Given the description of an element on the screen output the (x, y) to click on. 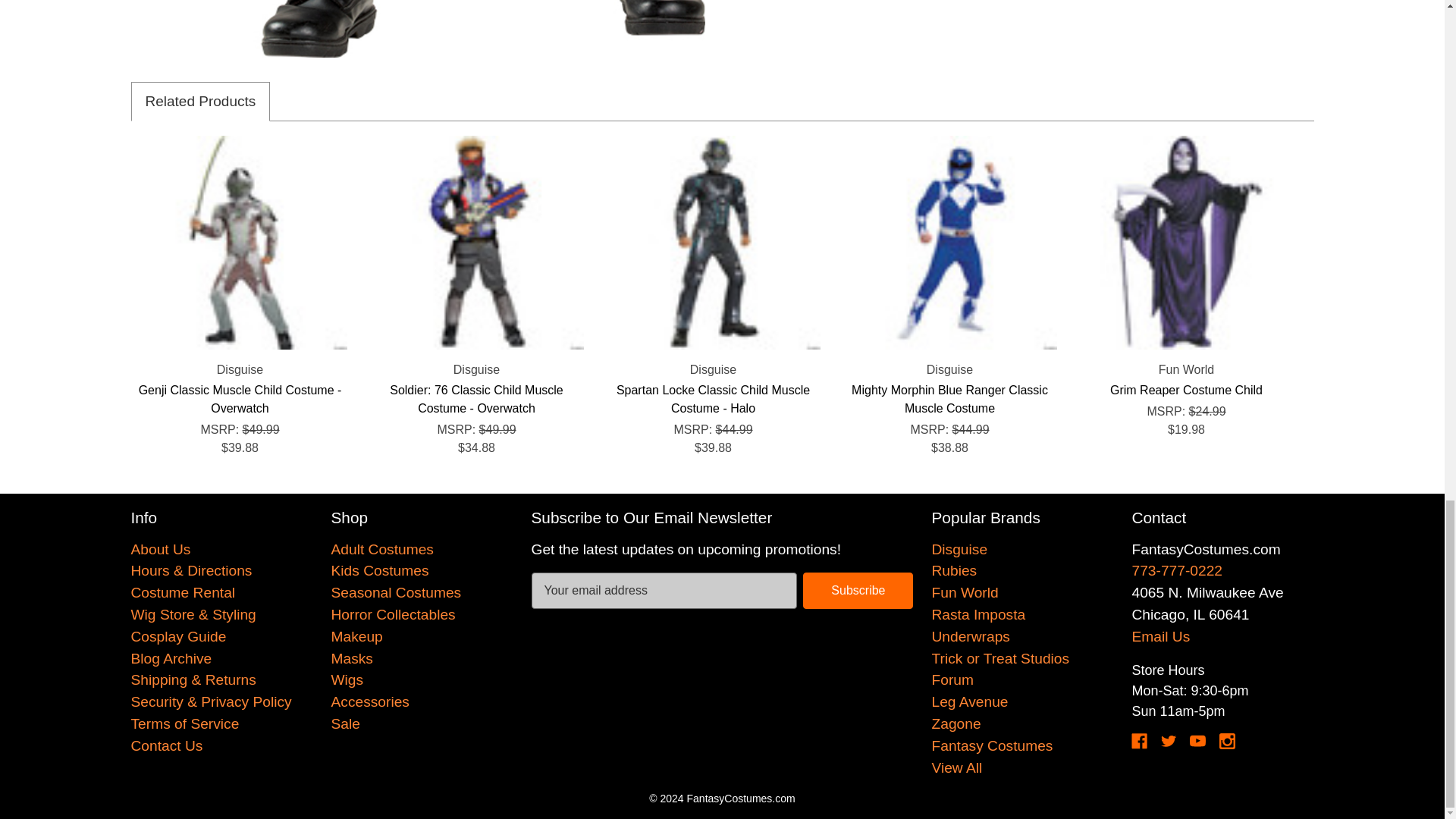
Spartan Locke Classic Child Muscle Costume - Halo (714, 242)
Mighty Morphin Blue Ranger Classic Muscle Costume  (950, 242)
Boy's Reaper Classic Muscle Costume - Overwatch (420, 28)
Genji Classic Muscle Child Costume - Overwatch (240, 242)
Subscribe (857, 590)
Soldier: 76 Classic Child Muscle Costume - Overwatch (476, 242)
